Given the description of an element on the screen output the (x, y) to click on. 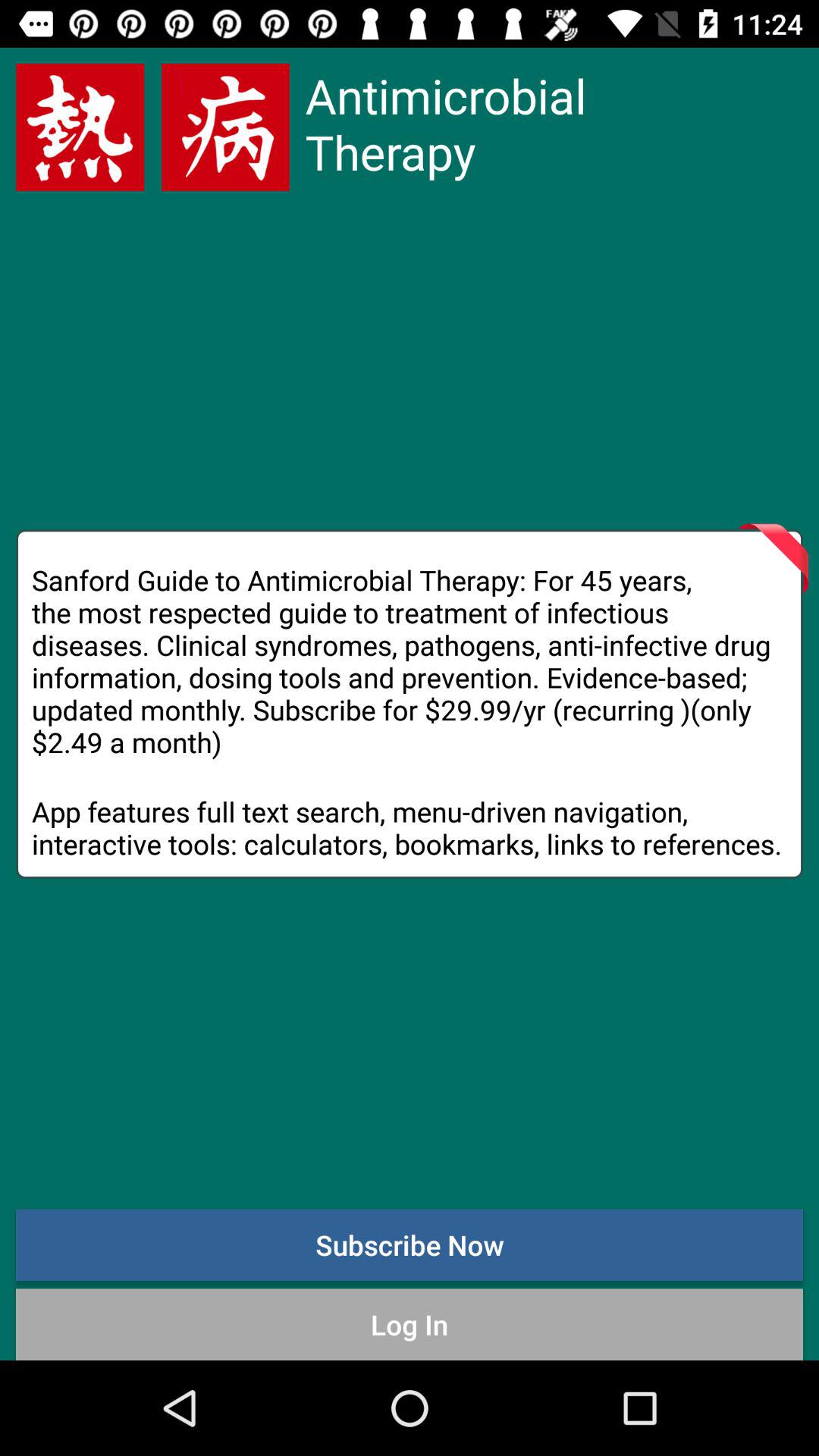
press the item below subscribe now item (409, 1324)
